Given the description of an element on the screen output the (x, y) to click on. 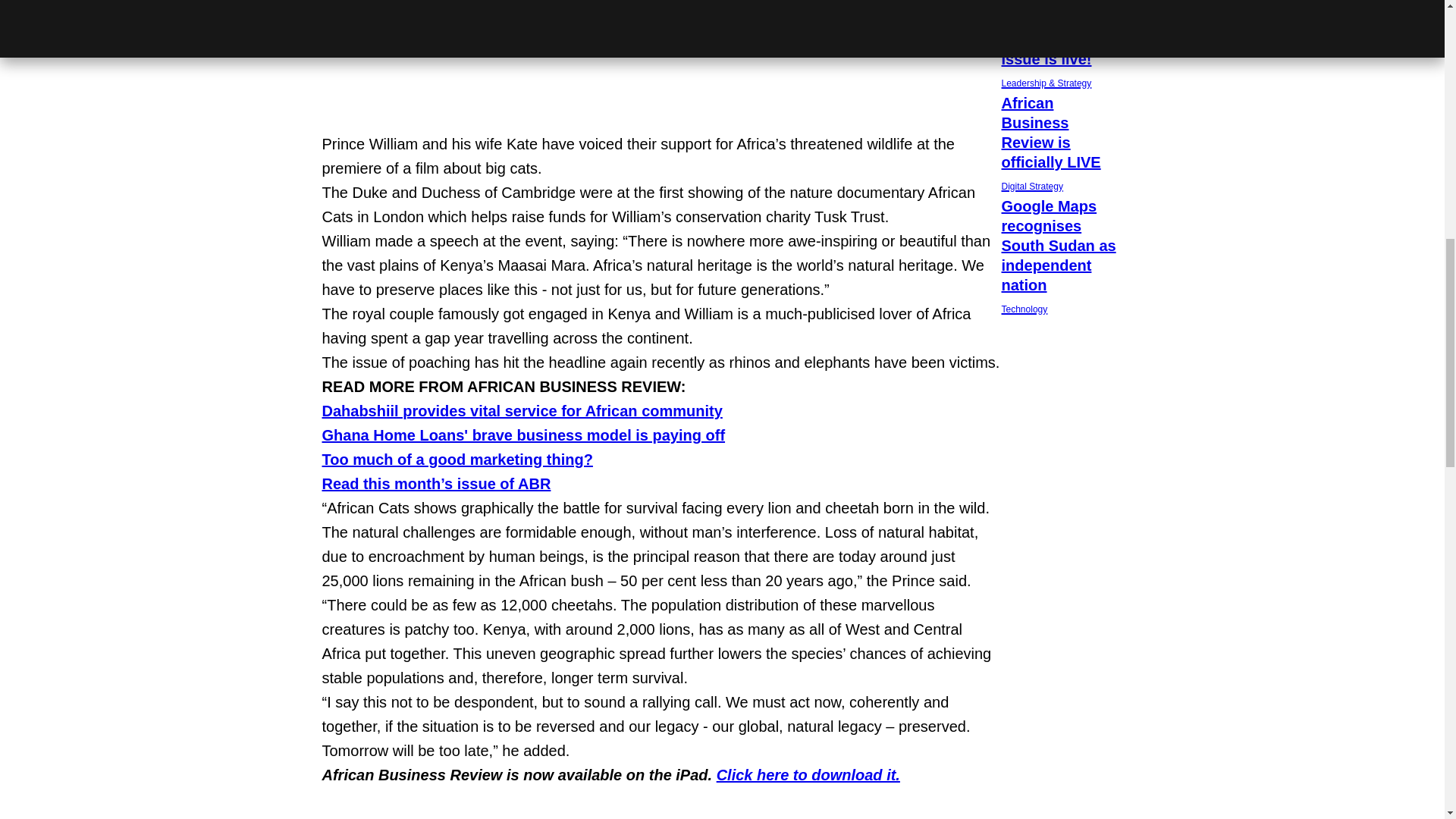
African Business Review (371, 816)
African wildlife (560, 816)
African Cats (506, 816)
Click here to download it. (1061, 146)
Dahabshiil provides vital service for African community (807, 774)
Too much of a good marketing thing? (521, 410)
Ghana Home Loans' brave business model is paying off (456, 459)
